Given the description of an element on the screen output the (x, y) to click on. 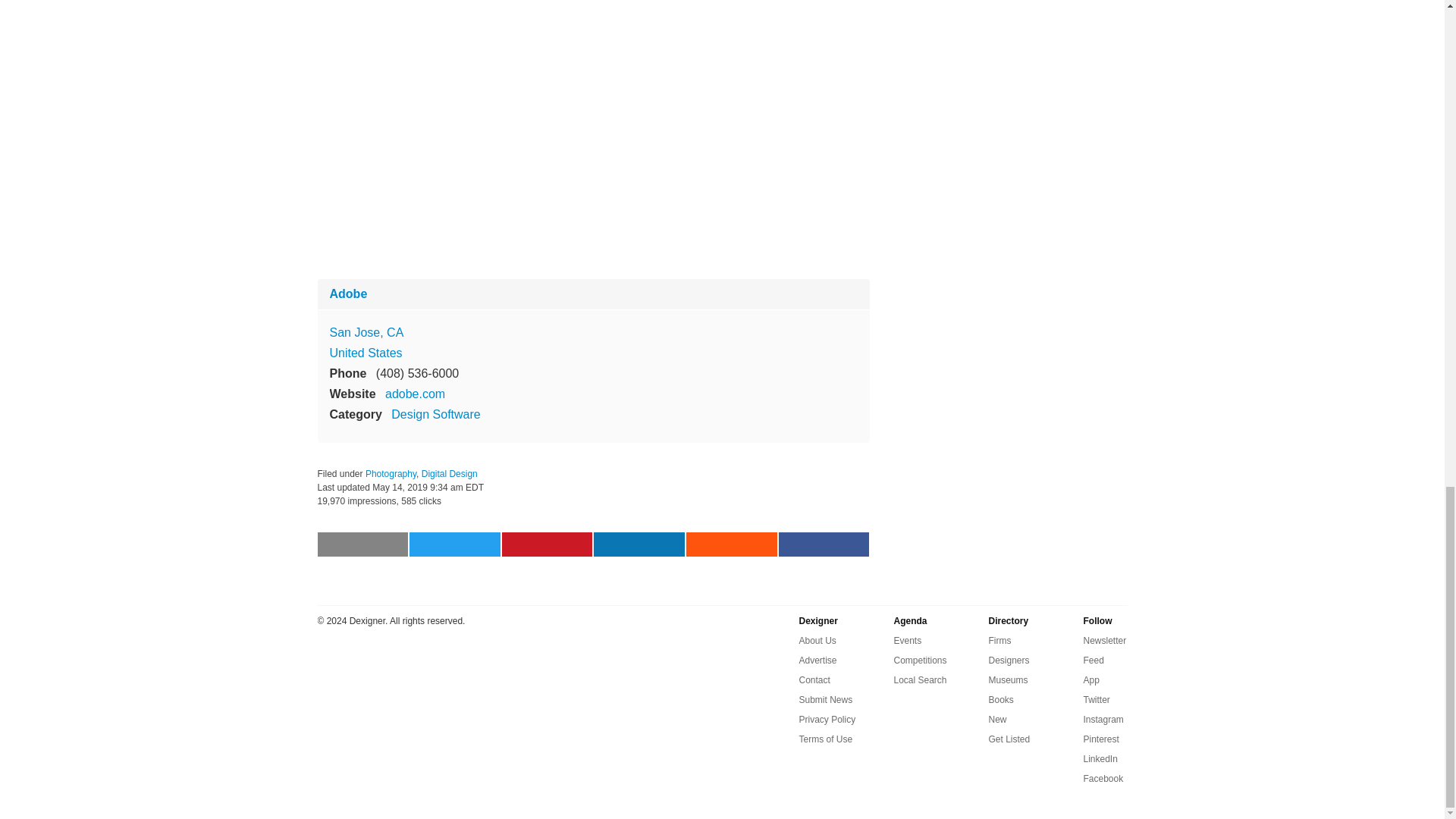
United States (365, 352)
Privacy Policy (827, 719)
Adobe (347, 293)
Submit News (826, 700)
View on Map (366, 332)
Events (907, 640)
About Us (817, 640)
Get Listed (1009, 739)
Firms (999, 640)
Designers (1008, 660)
Contact (814, 679)
Advertise (818, 660)
New (997, 719)
Adobe XD Design Systems (593, 44)
Museums (1007, 679)
